Given the description of an element on the screen output the (x, y) to click on. 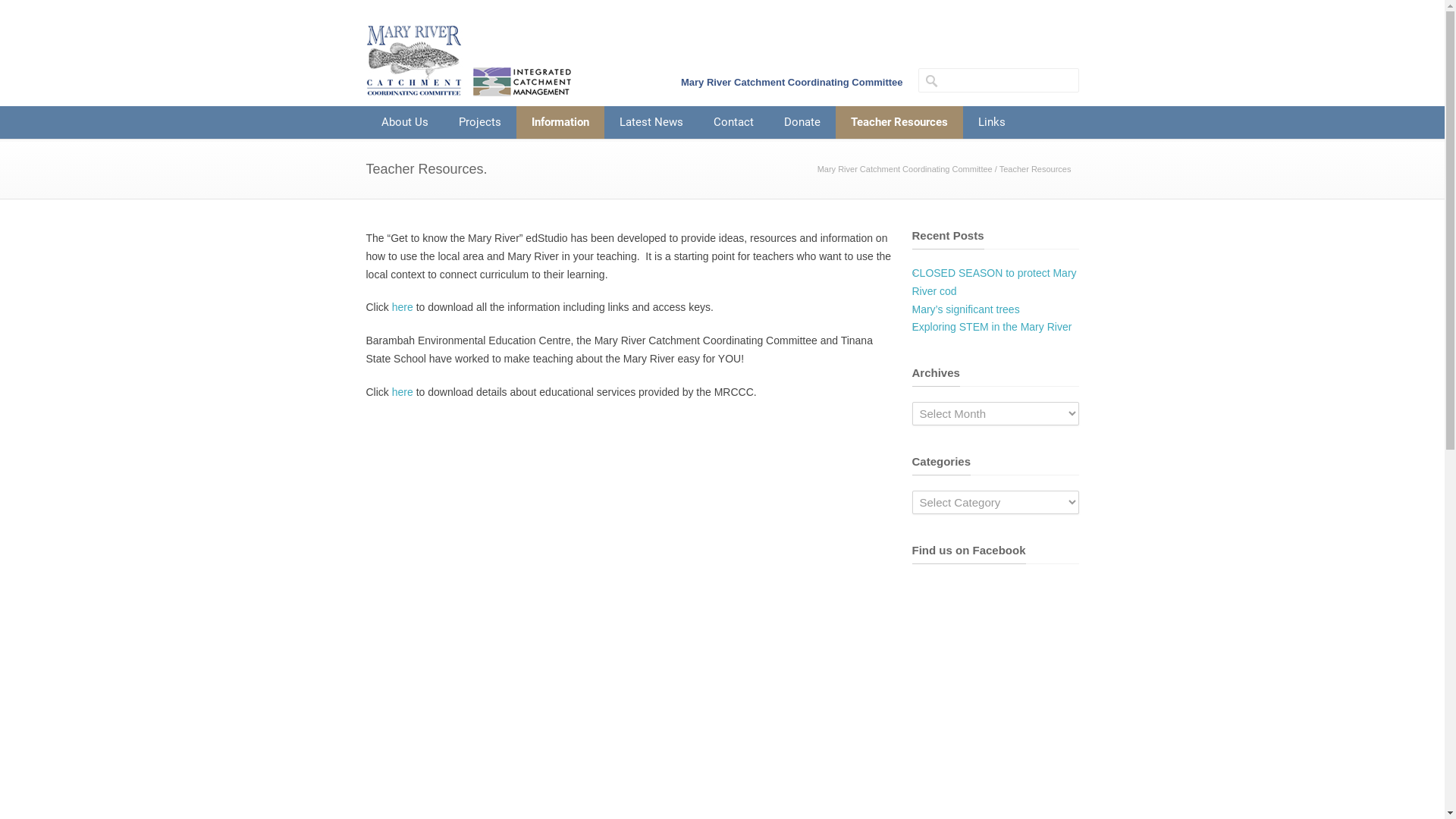
here Element type: text (402, 391)
Exploring STEM in the Mary River Element type: text (991, 326)
Mary River Catchment Coordinating Committee Element type: text (904, 168)
Teacher Resources Element type: text (899, 122)
Donate Element type: text (801, 122)
here Element type: text (402, 307)
Search Element type: text (68, 11)
Projects Element type: text (478, 122)
Information Element type: text (559, 122)
CLOSED SEASON to protect Mary River cod Element type: text (993, 281)
Latest News Element type: text (650, 122)
Contact Element type: text (732, 122)
About Us Element type: text (403, 122)
Links Element type: text (991, 122)
